Given the description of an element on the screen output the (x, y) to click on. 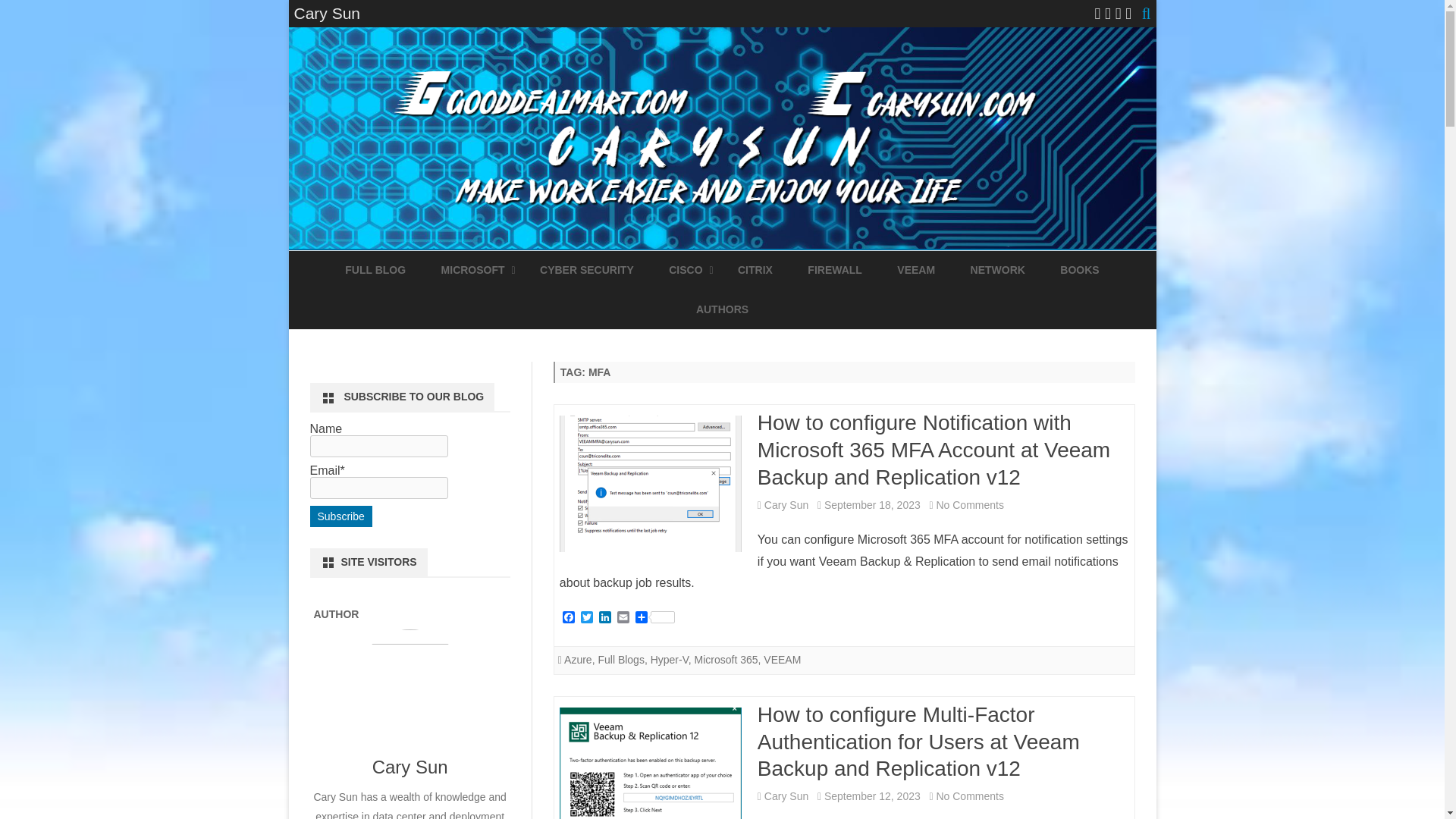
FULL BLOG (375, 270)
Twitter (586, 617)
CYBER SECURITY (586, 270)
Email (622, 617)
Facebook (568, 617)
MICROSOFT (473, 270)
AZURE (516, 305)
LinkedIn (604, 617)
